Given the description of an element on the screen output the (x, y) to click on. 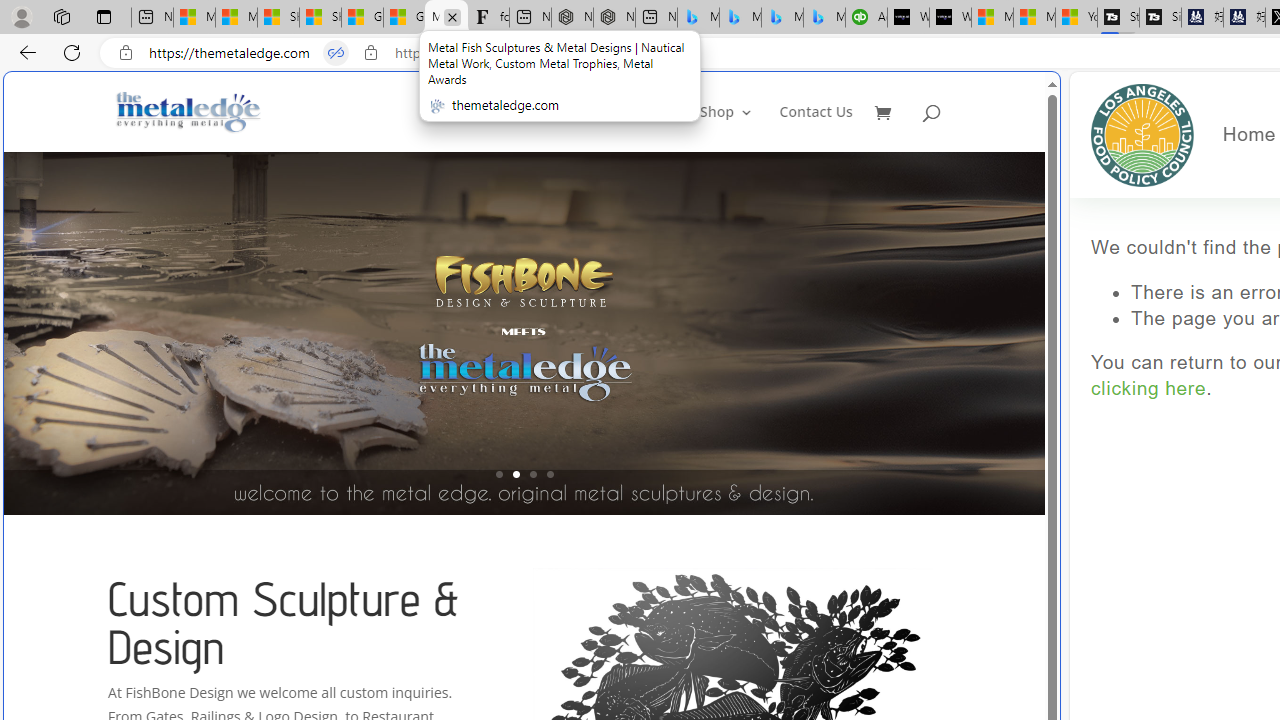
Microsoft Start (1033, 17)
Refresh (72, 52)
4 (550, 474)
Contact Us (815, 128)
Microsoft Bing Travel - Shangri-La Hotel Bangkok (823, 17)
Back (24, 52)
What's the best AI voice generator? - voice.ai (950, 17)
Metal Fish Sculptures & Metal Designs (189, 111)
New tab (656, 17)
Tab actions menu (104, 16)
Nordace - #1 Japanese Best-Seller - Siena Smart Backpack (613, 17)
Microsoft Bing Travel - Stays in Bangkok, Bangkok, Thailand (740, 17)
Workspaces (61, 16)
